Given the description of an element on the screen output the (x, y) to click on. 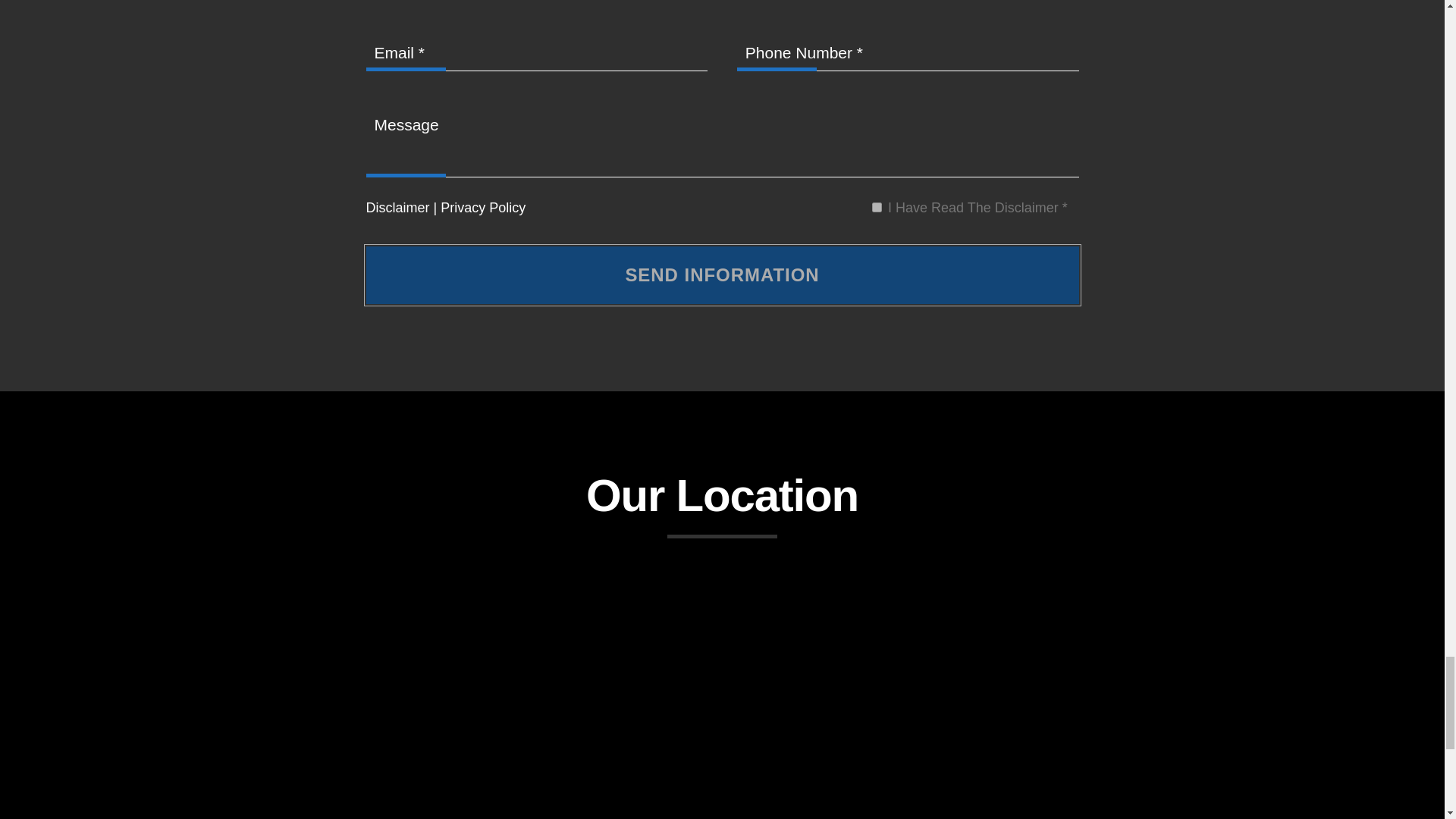
Send Information (721, 274)
